Given the description of an element on the screen output the (x, y) to click on. 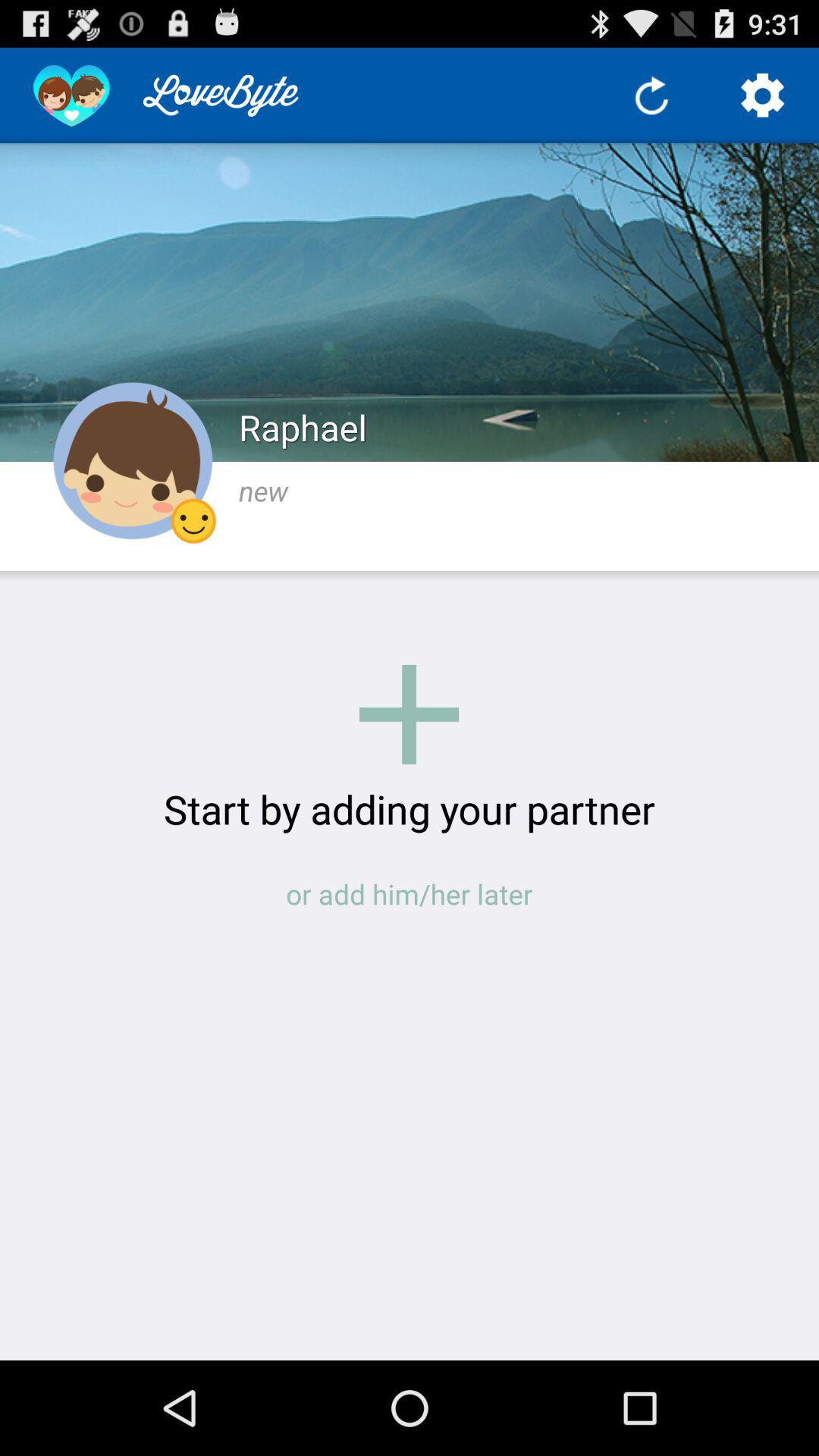
add your partner (408, 714)
